Given the description of an element on the screen output the (x, y) to click on. 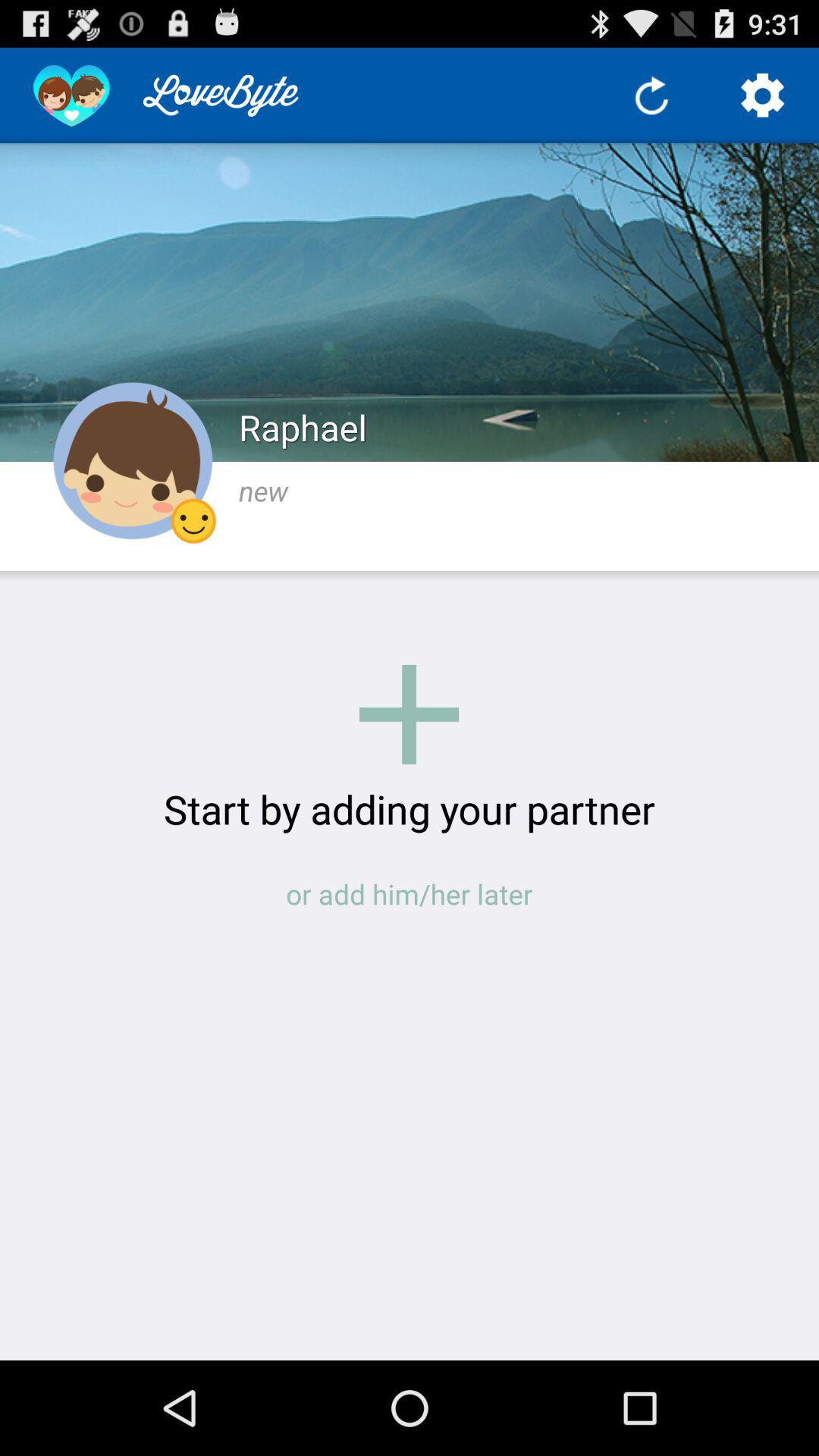
add your partner (408, 714)
